Given the description of an element on the screen output the (x, y) to click on. 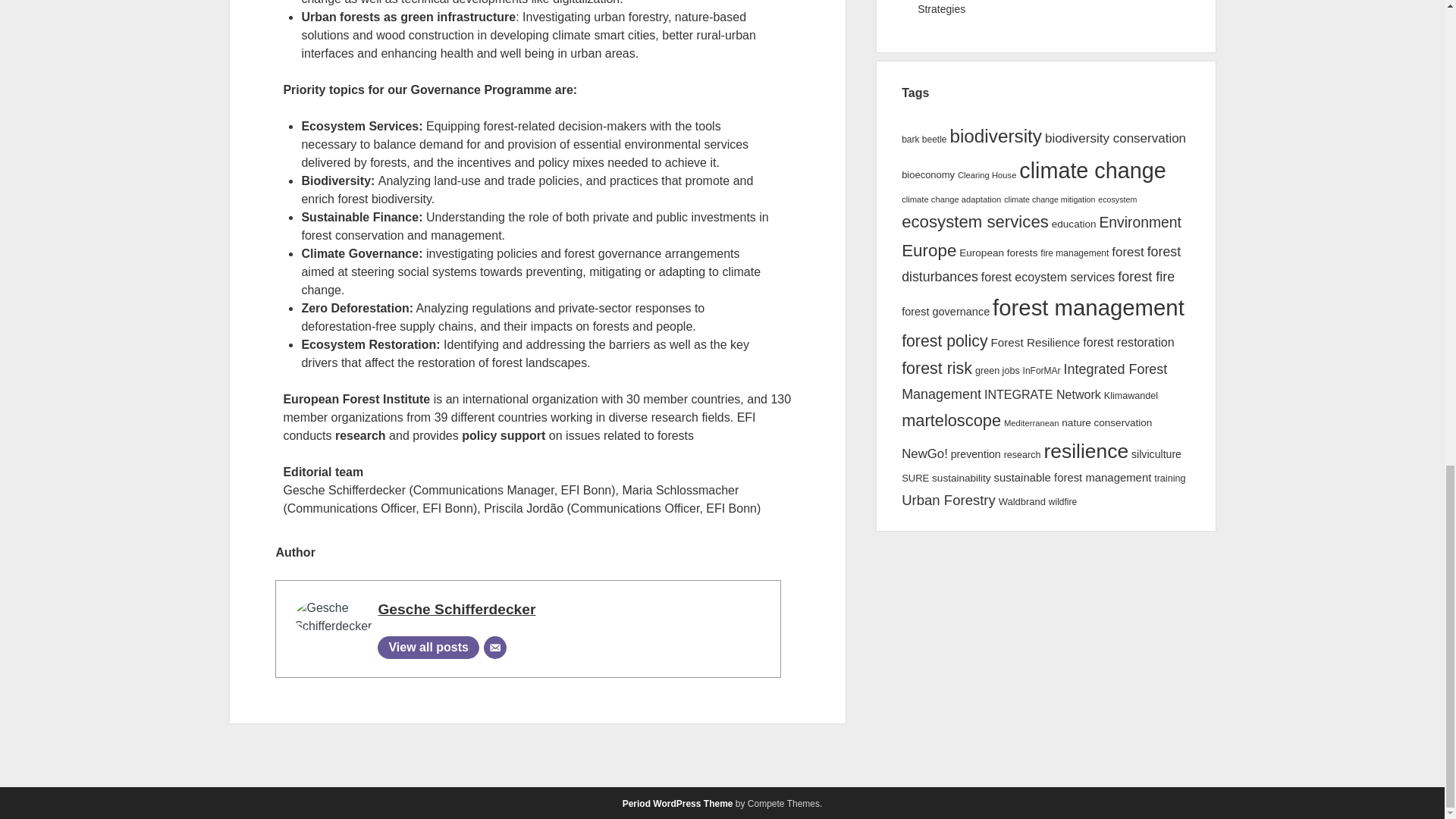
biodiversity conservation (1115, 138)
biodiversity (995, 136)
bark beetle (923, 139)
research (359, 435)
bioeconomy (928, 174)
Gesche Schifferdecker (456, 609)
Gesche Schifferdecker (456, 609)
View all posts (428, 647)
policy support (502, 435)
View all posts (428, 647)
